Given the description of an element on the screen output the (x, y) to click on. 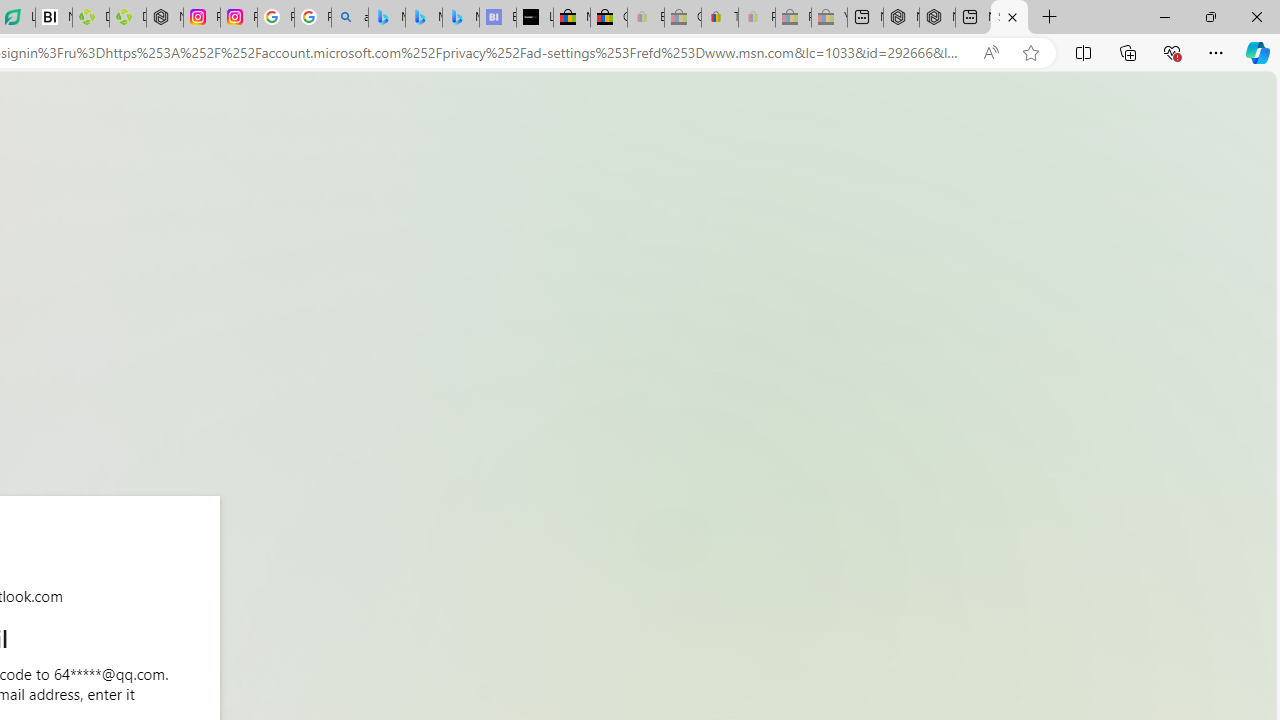
alabama high school quarterback dies - Search (349, 17)
Microsoft Bing Travel - Flights from Hong Kong to Bangkok (386, 17)
Nvidia va a poner a prueba la paciencia de los inversores (53, 17)
Payments Terms of Use | eBay.com - Sleeping (756, 17)
